Given the description of an element on the screen output the (x, y) to click on. 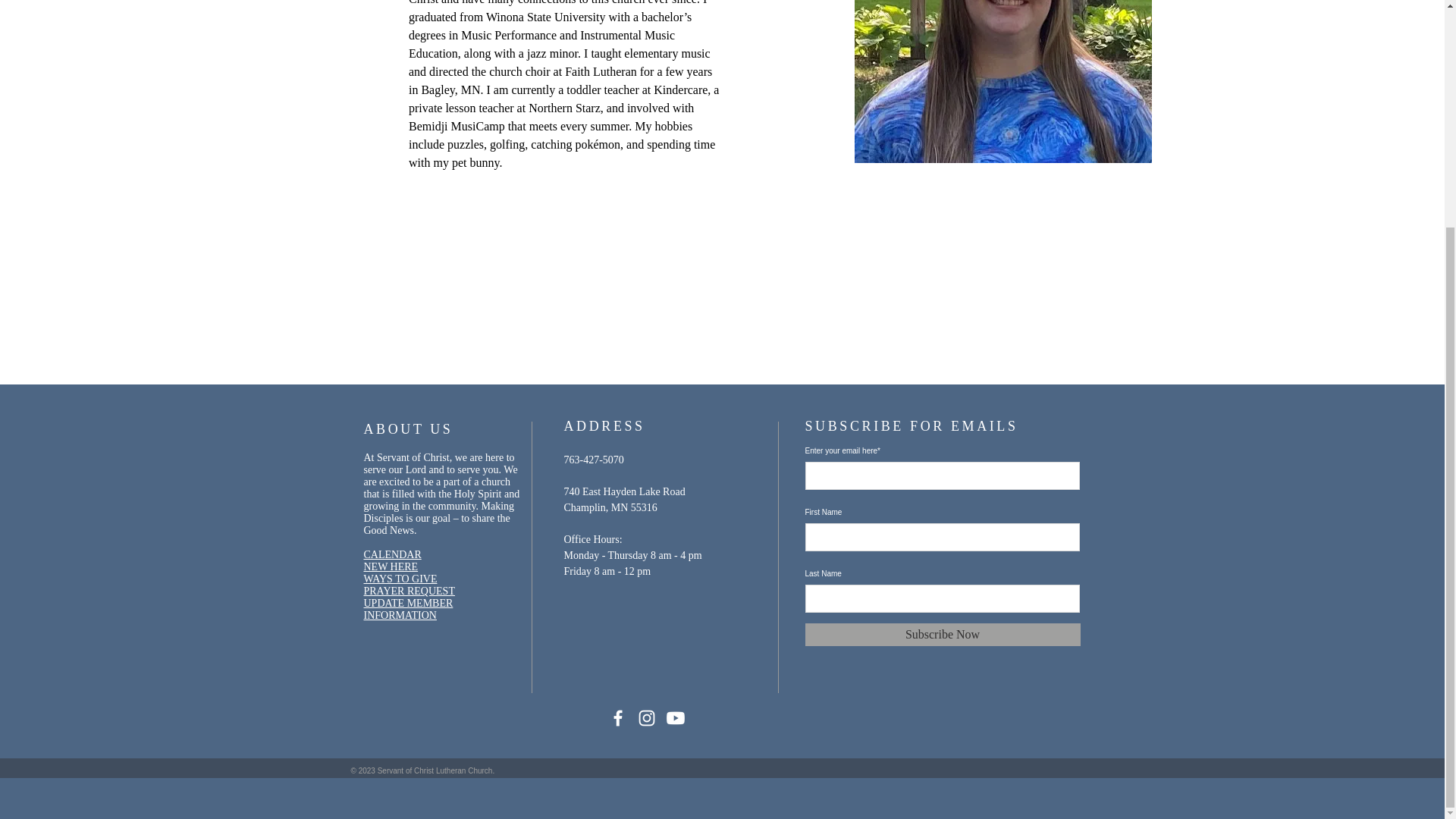
Subscribe Now (942, 634)
PRAYER REQUEST (409, 591)
CALENDAR (393, 554)
Britta.jpg (1002, 81)
WAYS TO GIVE (401, 578)
NEW HERE (391, 566)
UPDATE MEMBER INFORMATION (408, 608)
